Given the description of an element on the screen output the (x, y) to click on. 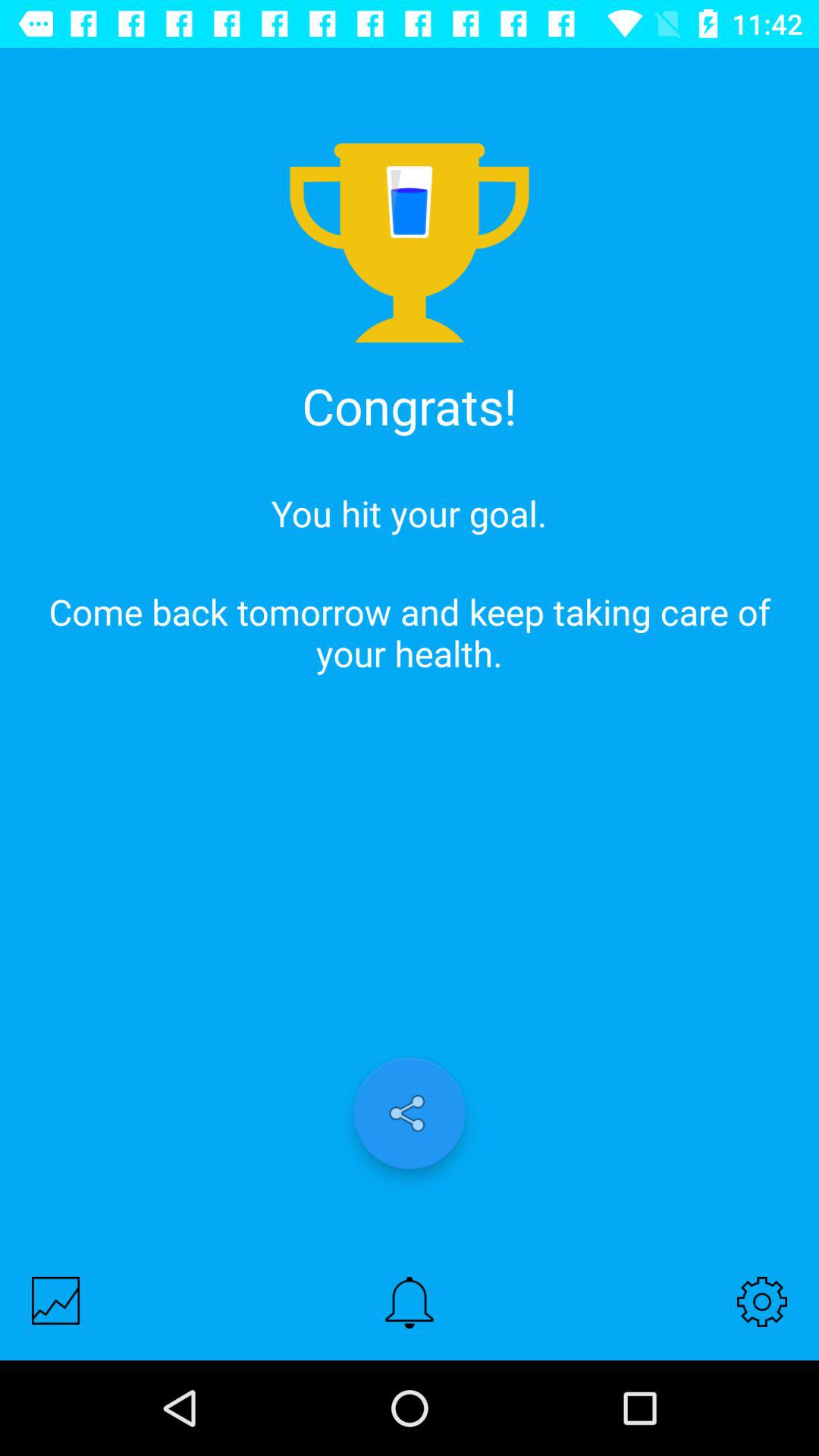
click item above congrats! icon (409, 97)
